Given the description of an element on the screen output the (x, y) to click on. 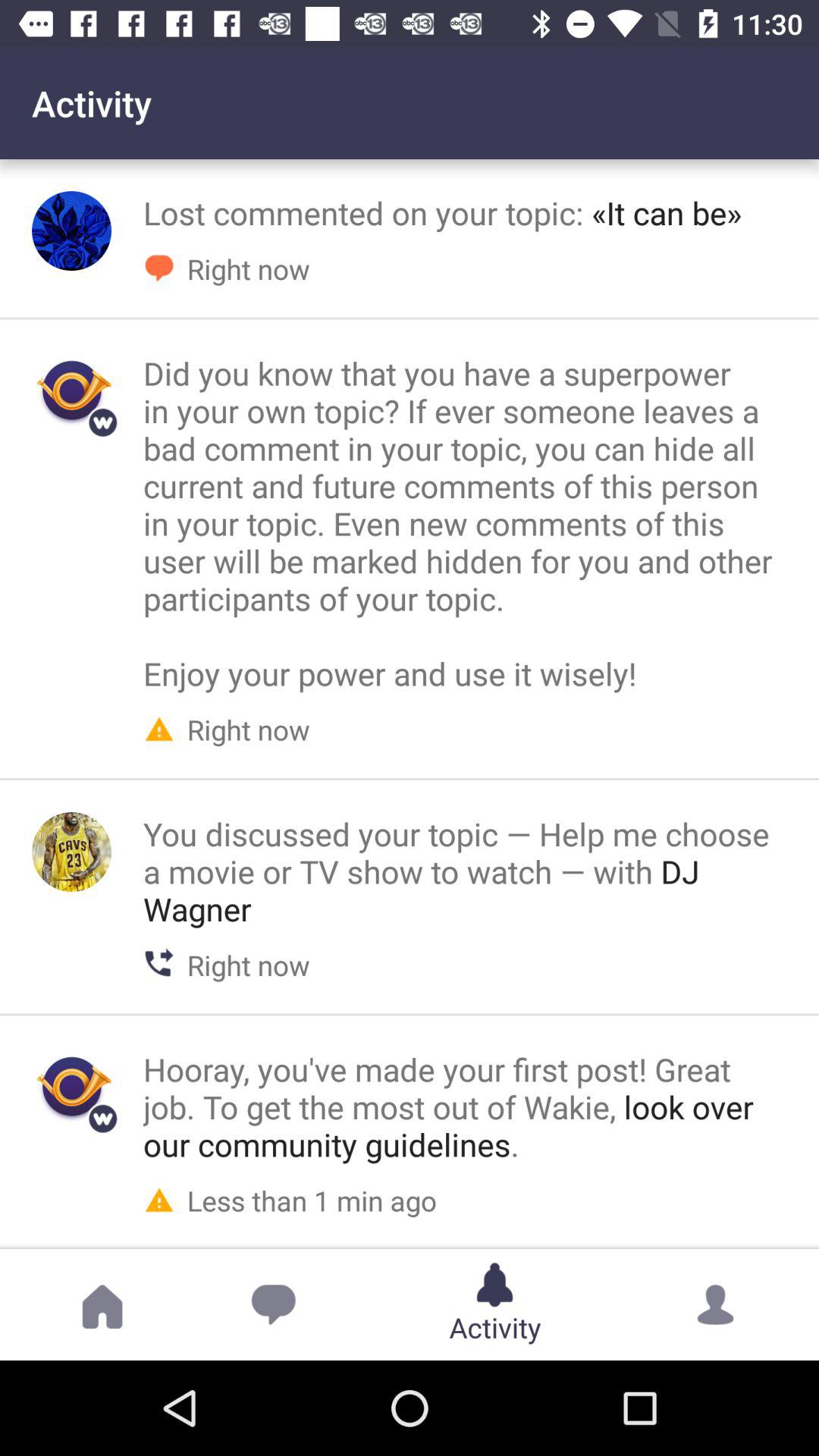
view last comment (71, 1087)
